Given the description of an element on the screen output the (x, y) to click on. 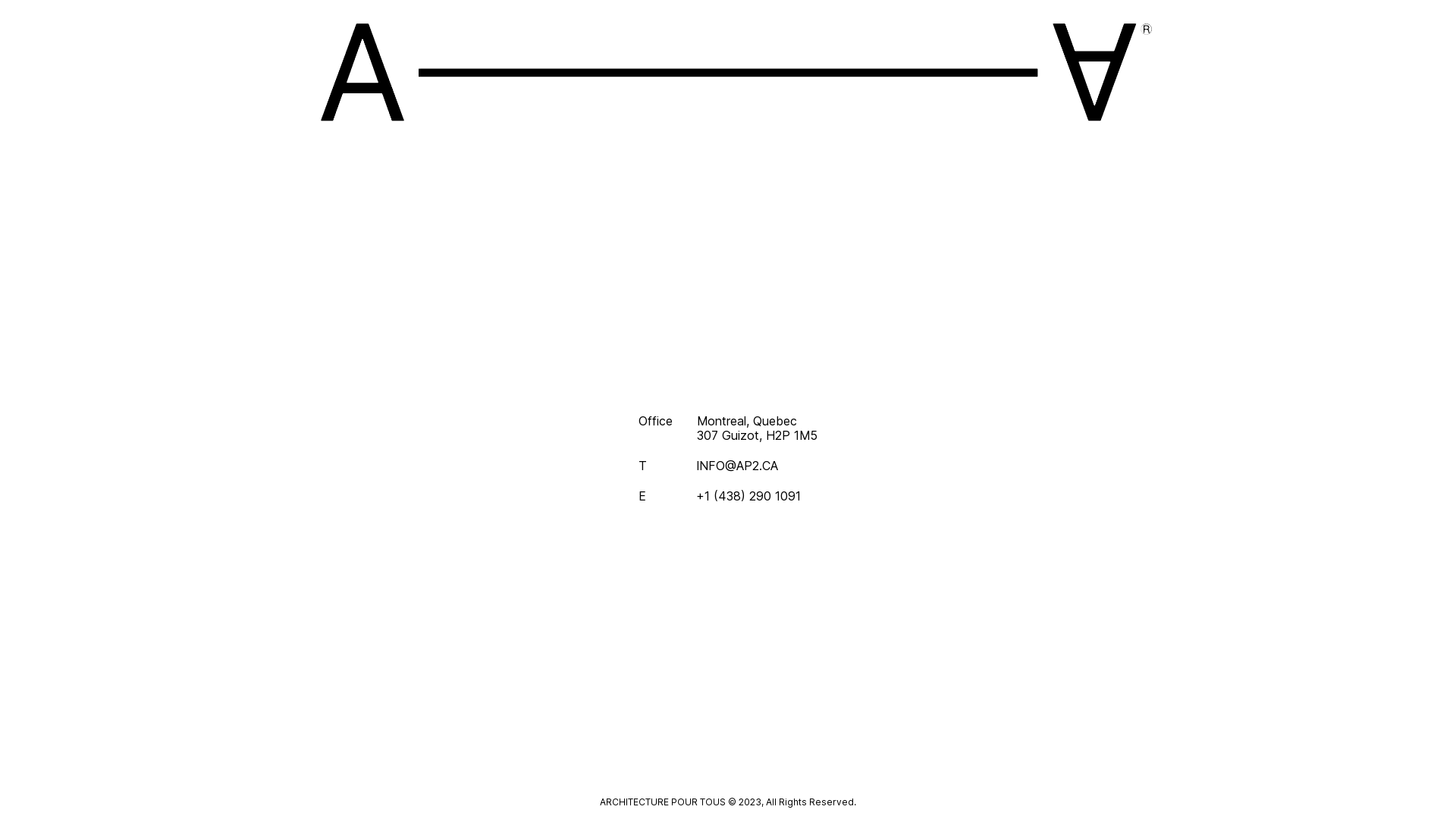
+1 (438) 290 1091 Element type: text (756, 496)
INFO@AP2.CA Element type: text (756, 465)
